Given the description of an element on the screen output the (x, y) to click on. 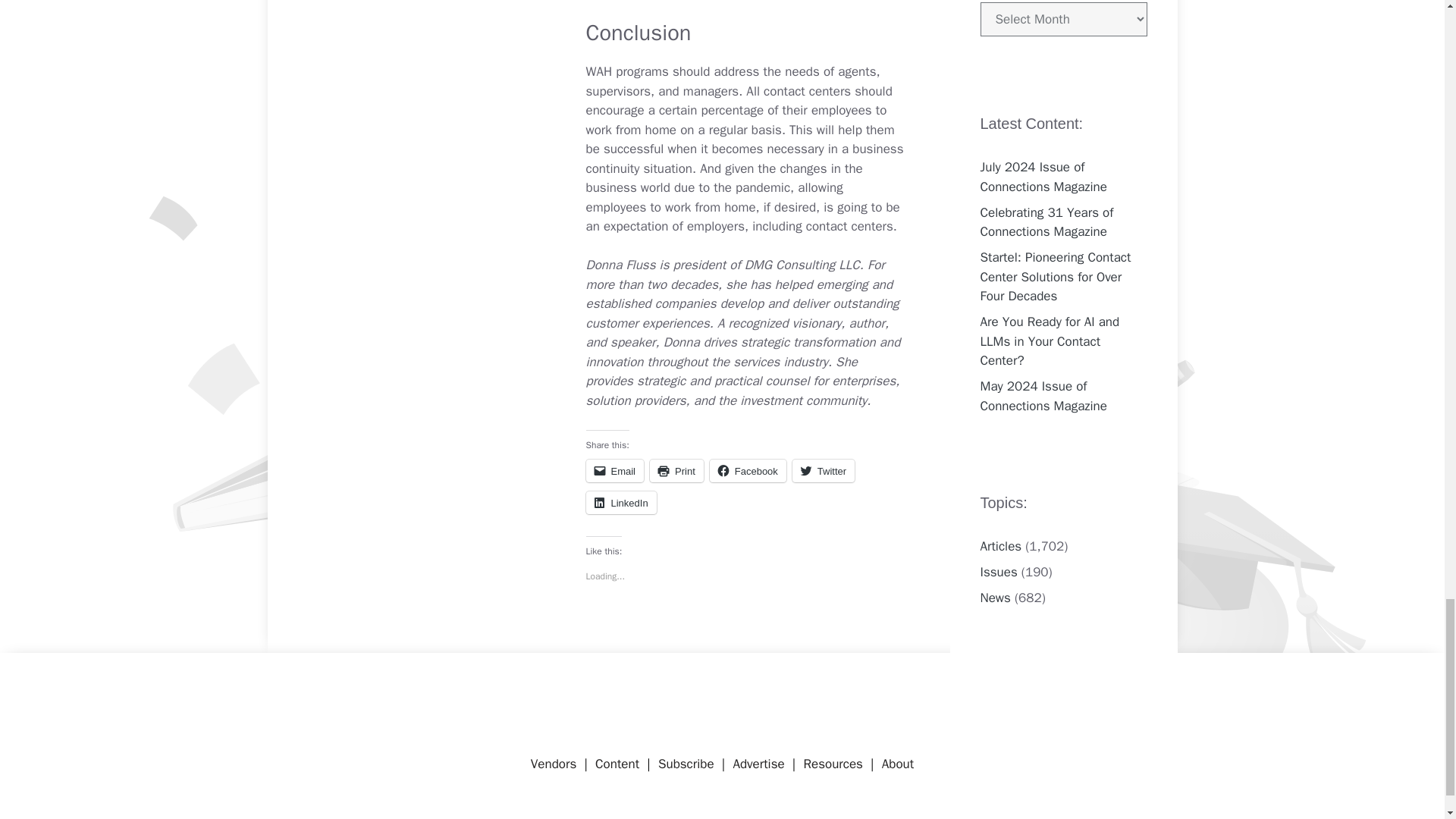
Click to share on Facebook (748, 470)
Click to share on LinkedIn (620, 502)
Click to email a link to a friend (614, 470)
Click to print (676, 470)
Click to share on Twitter (823, 470)
